Given the description of an element on the screen output the (x, y) to click on. 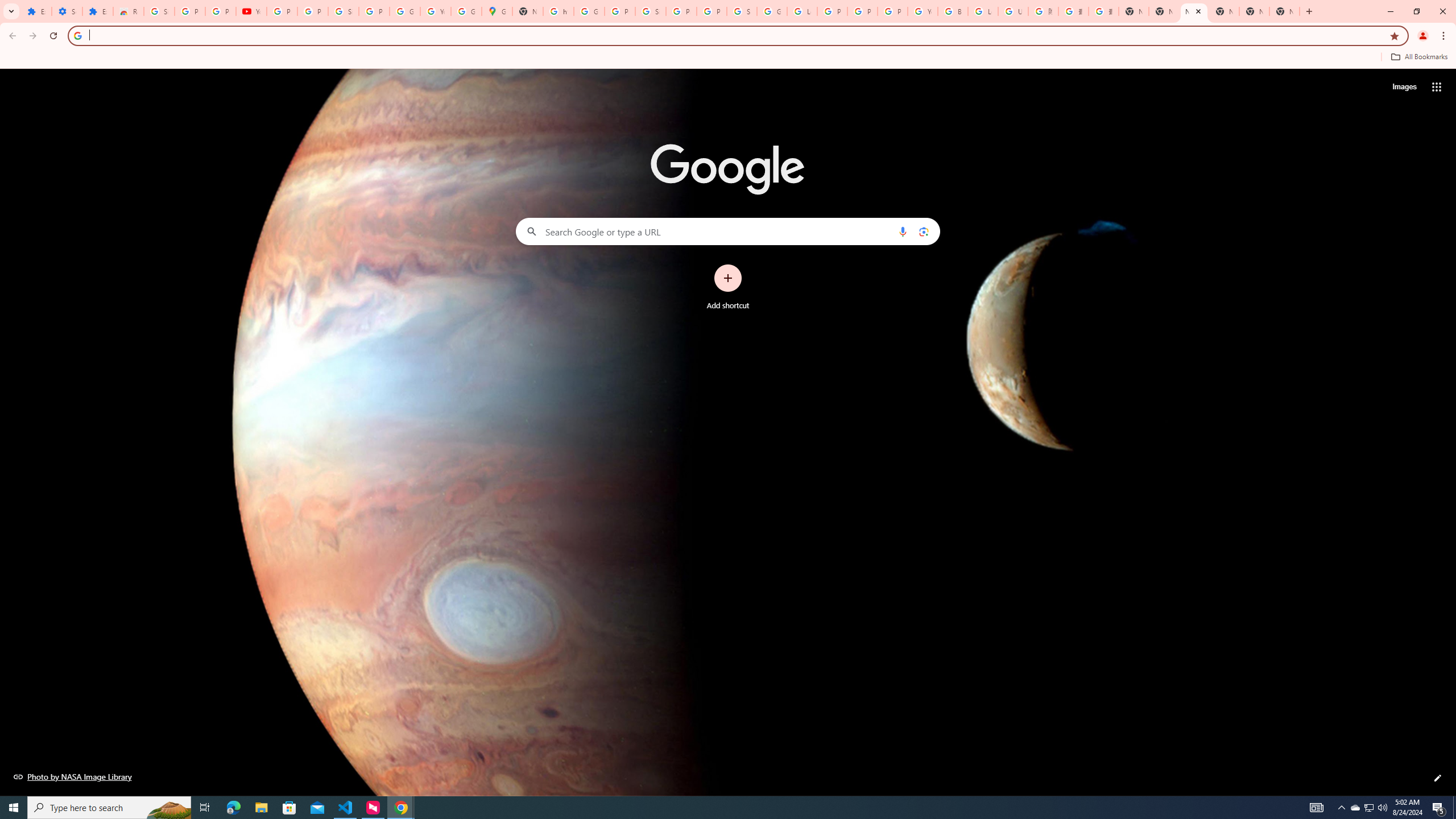
All Bookmarks (1418, 56)
Sign in - Google Accounts (343, 11)
Privacy Help Center - Policies Help (862, 11)
Customize this page (1437, 778)
Extensions (97, 11)
https://scholar.google.com/ (558, 11)
YouTube (922, 11)
